Given the description of an element on the screen output the (x, y) to click on. 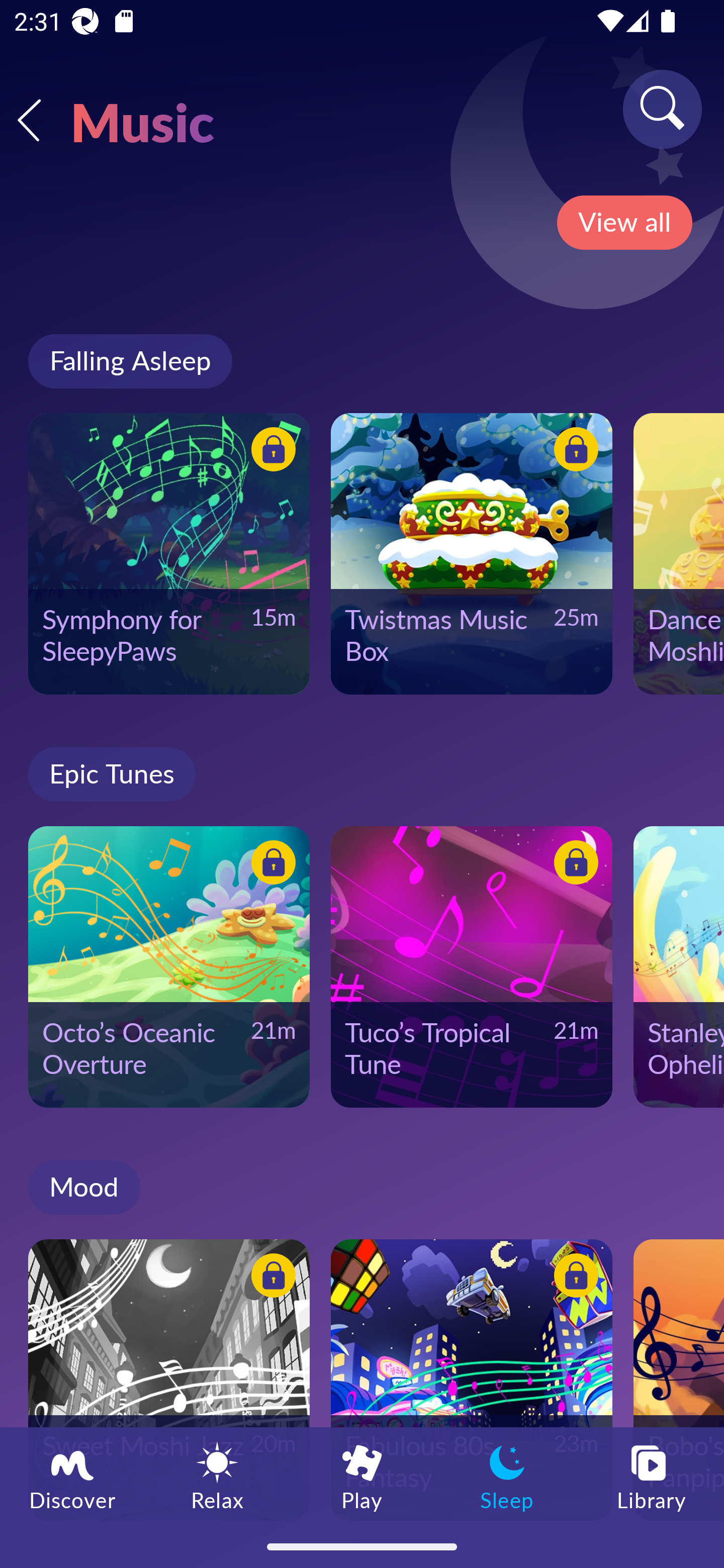
View all (624, 222)
Button (269, 451)
Featured Content Button Twistmas Music Box 25m (471, 553)
Button (573, 451)
Button (269, 865)
Featured Content Button Tuco’s Tropical Tune 21m (471, 966)
Button (573, 865)
Featured Content Button Sweet Moshi Jazz 20m (168, 1379)
Button (269, 1277)
Featured Content Button Fabulous 80s Fantasy 23m (471, 1379)
Button (573, 1277)
Discover (72, 1475)
Relax (216, 1475)
Play (361, 1475)
Library (651, 1475)
